Given the description of an element on the screen output the (x, y) to click on. 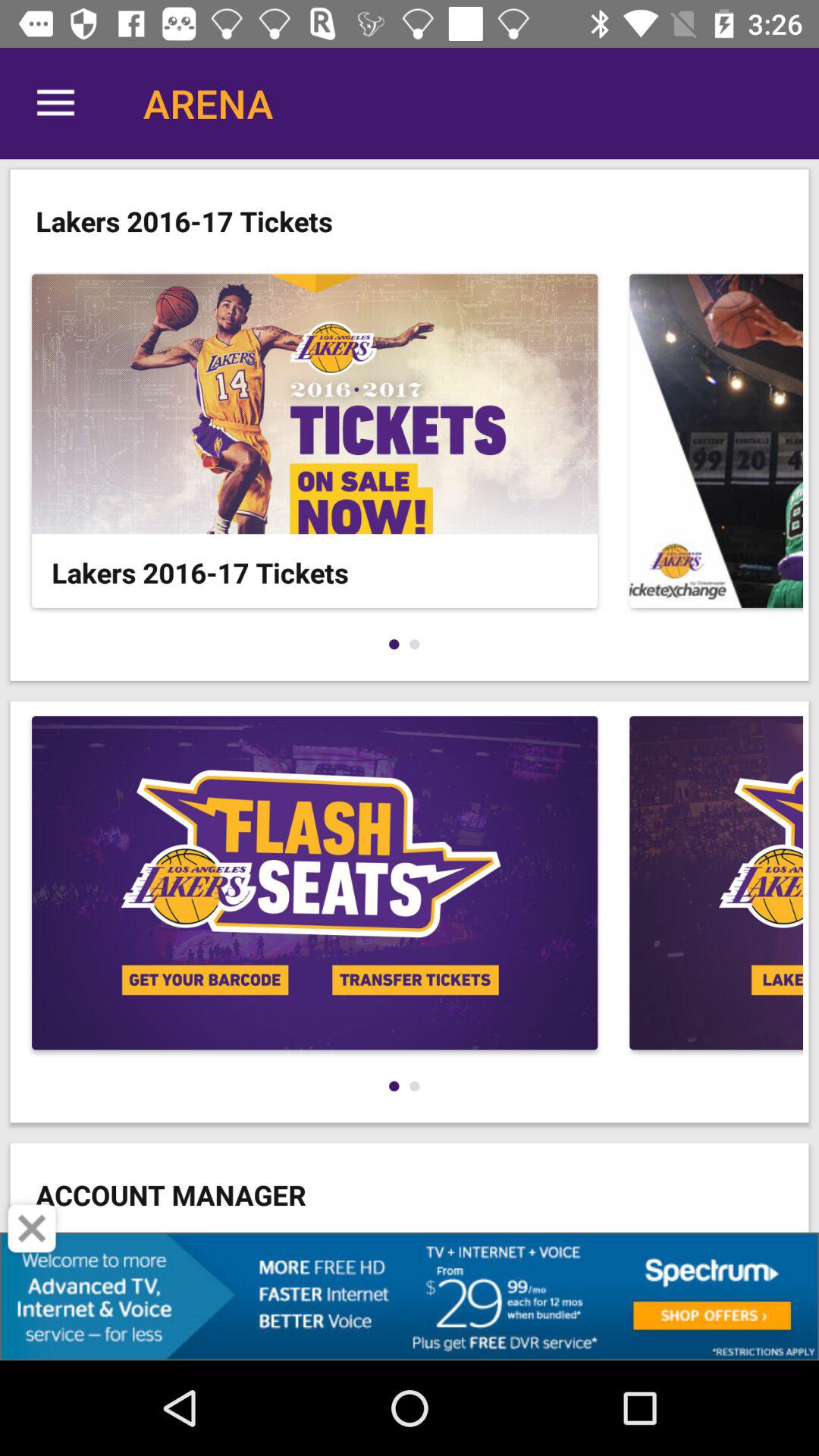
close option (31, 1228)
